Given the description of an element on the screen output the (x, y) to click on. 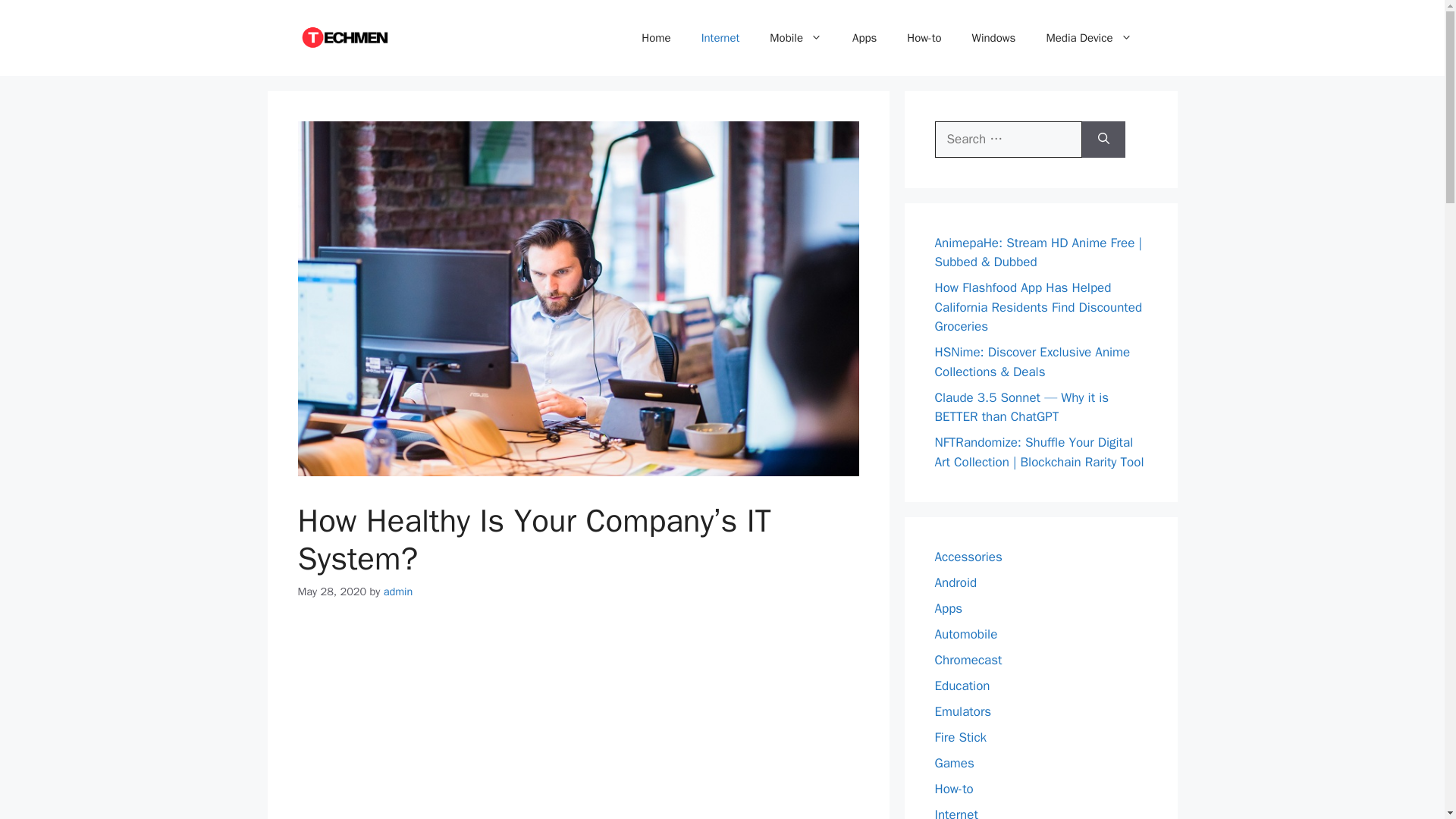
Advertisement (578, 722)
Search for: (1007, 139)
Media Device (1088, 37)
View all posts by admin (398, 591)
Mobile (795, 37)
Windows (993, 37)
Accessories (967, 556)
Android (955, 582)
Apps (948, 608)
Internet (720, 37)
How-to (923, 37)
Emulators (962, 711)
admin (398, 591)
Games (954, 763)
